Given the description of an element on the screen output the (x, y) to click on. 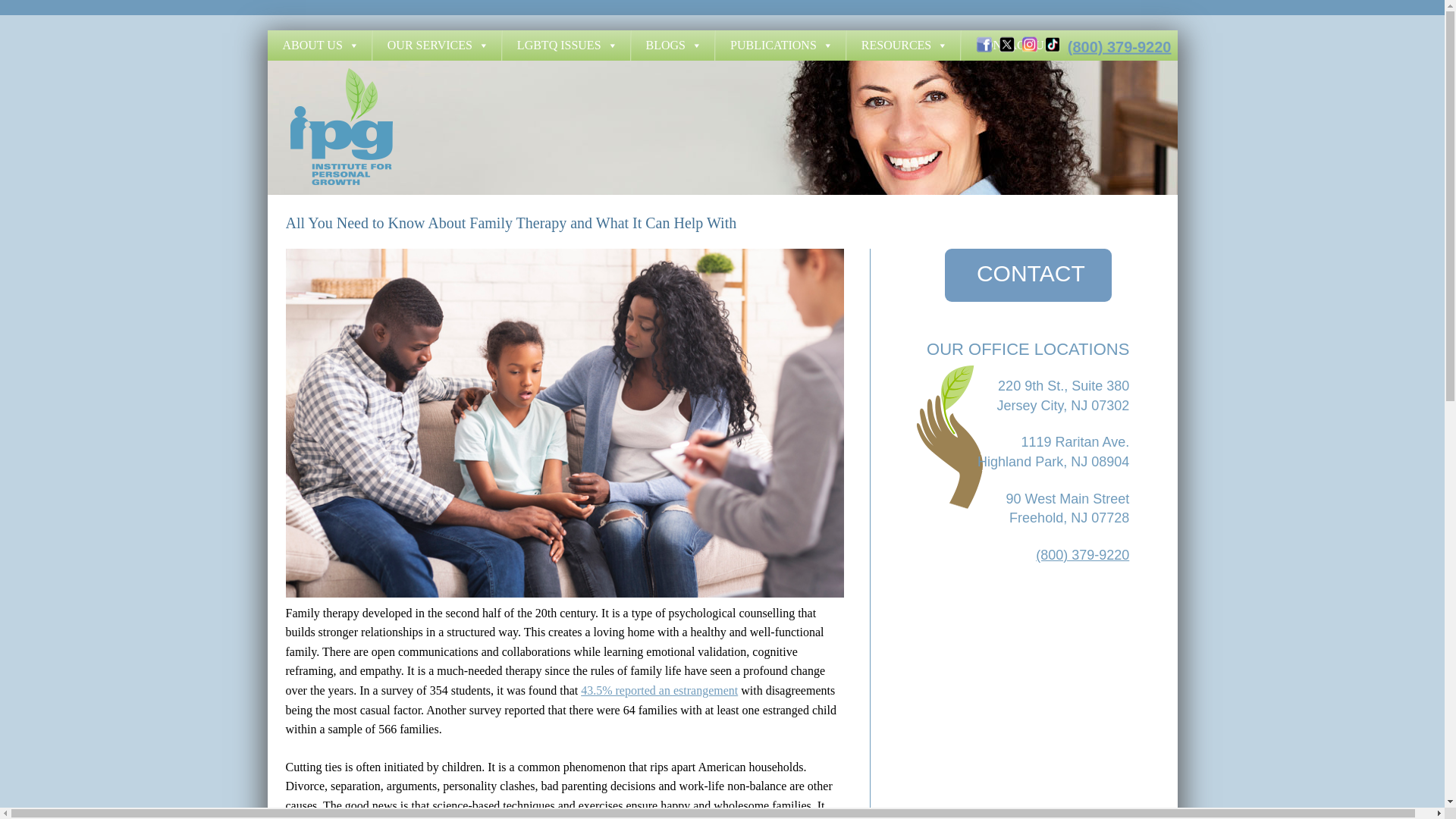
OUR SERVICES (436, 45)
BLOGS (672, 45)
ABOUT US (318, 45)
LGBTQ ISSUES (566, 45)
